Given the description of an element on the screen output the (x, y) to click on. 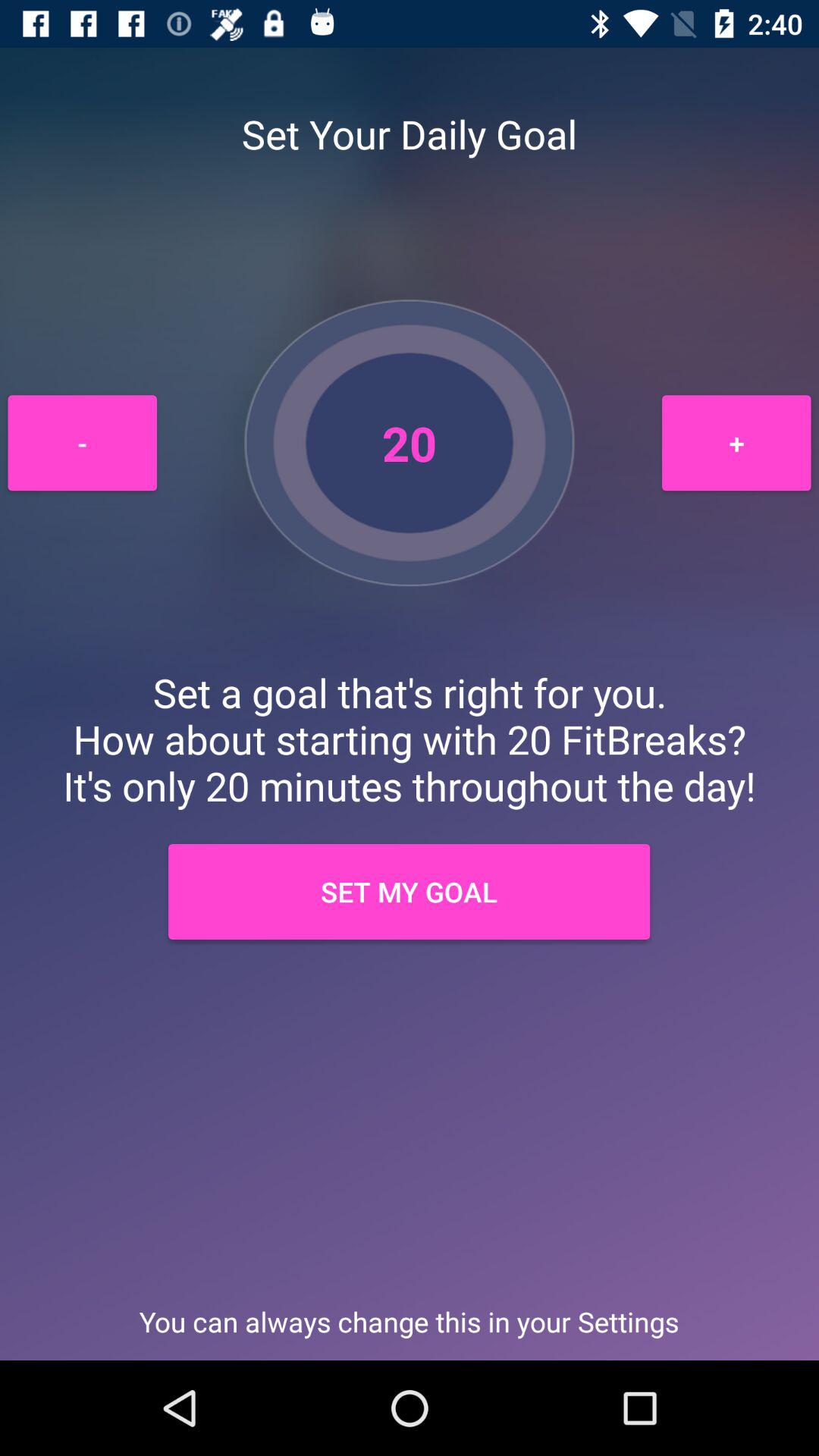
press the icon above the set a goal item (82, 442)
